Given the description of an element on the screen output the (x, y) to click on. 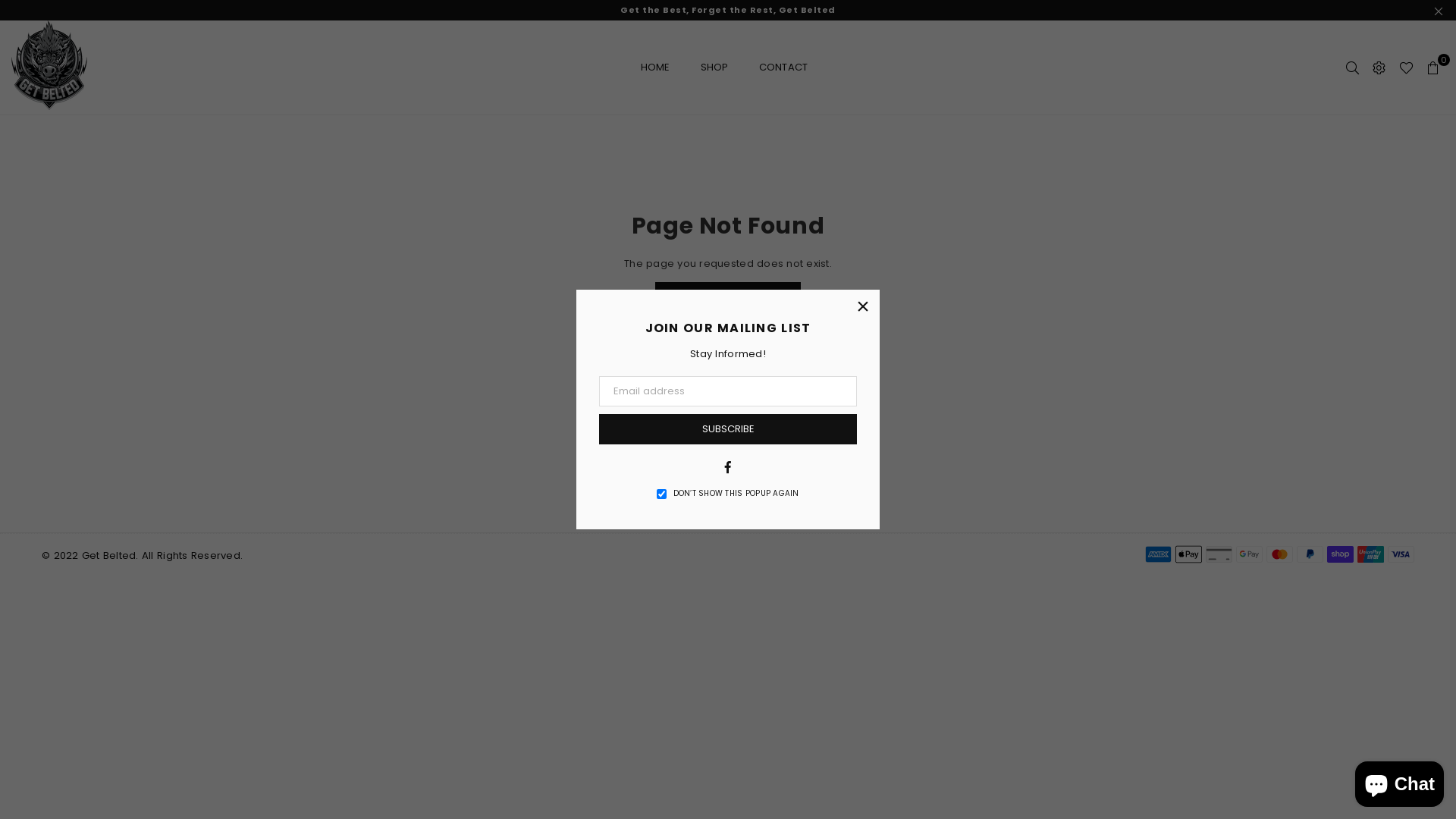
Settings Element type: hover (1378, 67)
CONTACT Element type: text (783, 67)
Search Element type: hover (1352, 67)
SUBSCRIBE Element type: text (727, 429)
SHOP Element type: text (714, 67)
0 Element type: text (1432, 67)
GET BELTED CHESTPLATES & COLLARS Element type: text (49, 64)
Shopify online store chat Element type: hover (1399, 780)
Facebook Element type: text (727, 466)
HOME Element type: text (655, 67)
Wishlist Element type: hover (1406, 67)
CONTINUE SHOPPING Element type: text (727, 296)
